Given the description of an element on the screen output the (x, y) to click on. 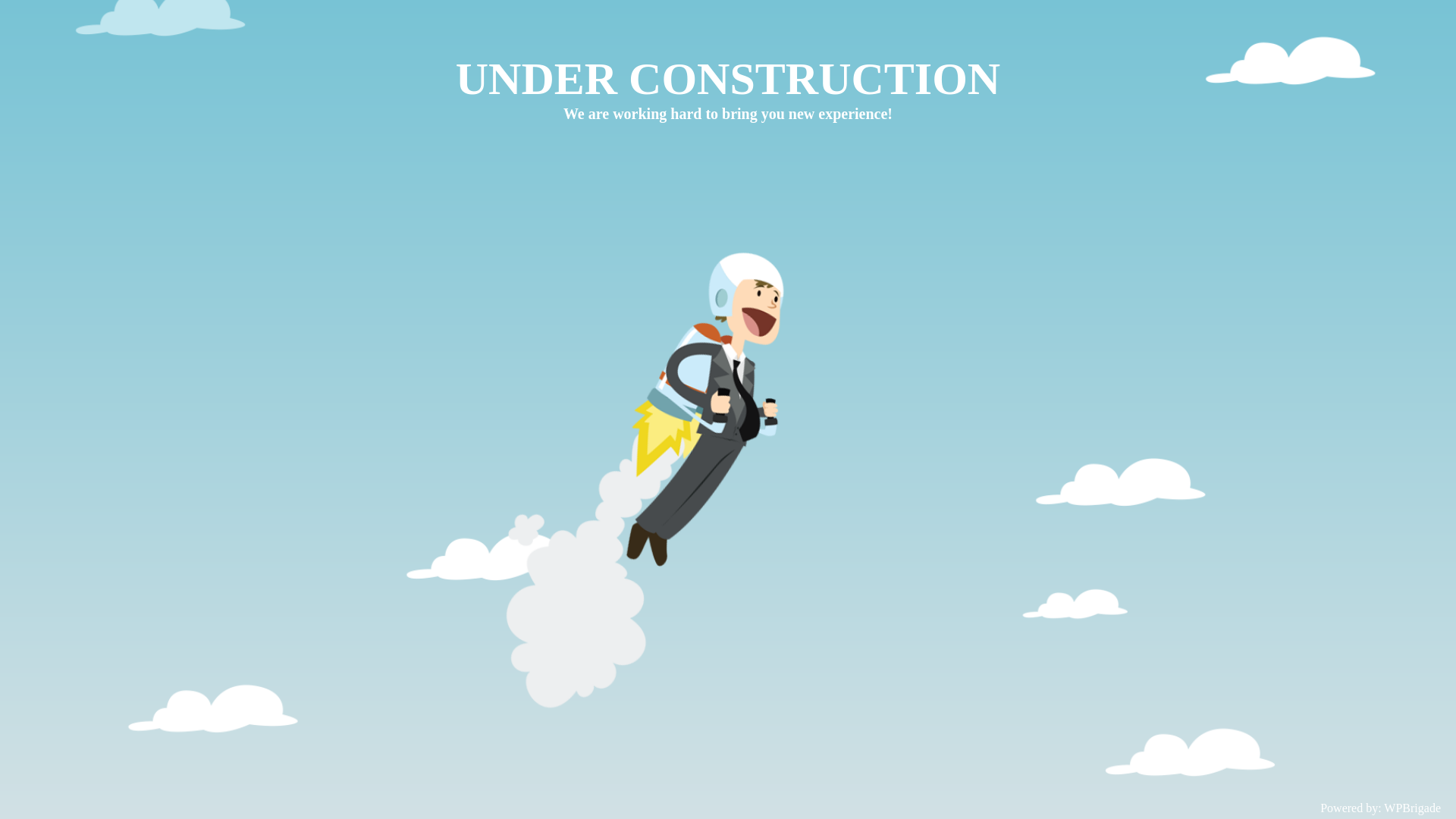
WPBrigade Element type: text (1411, 807)
